Given the description of an element on the screen output the (x, y) to click on. 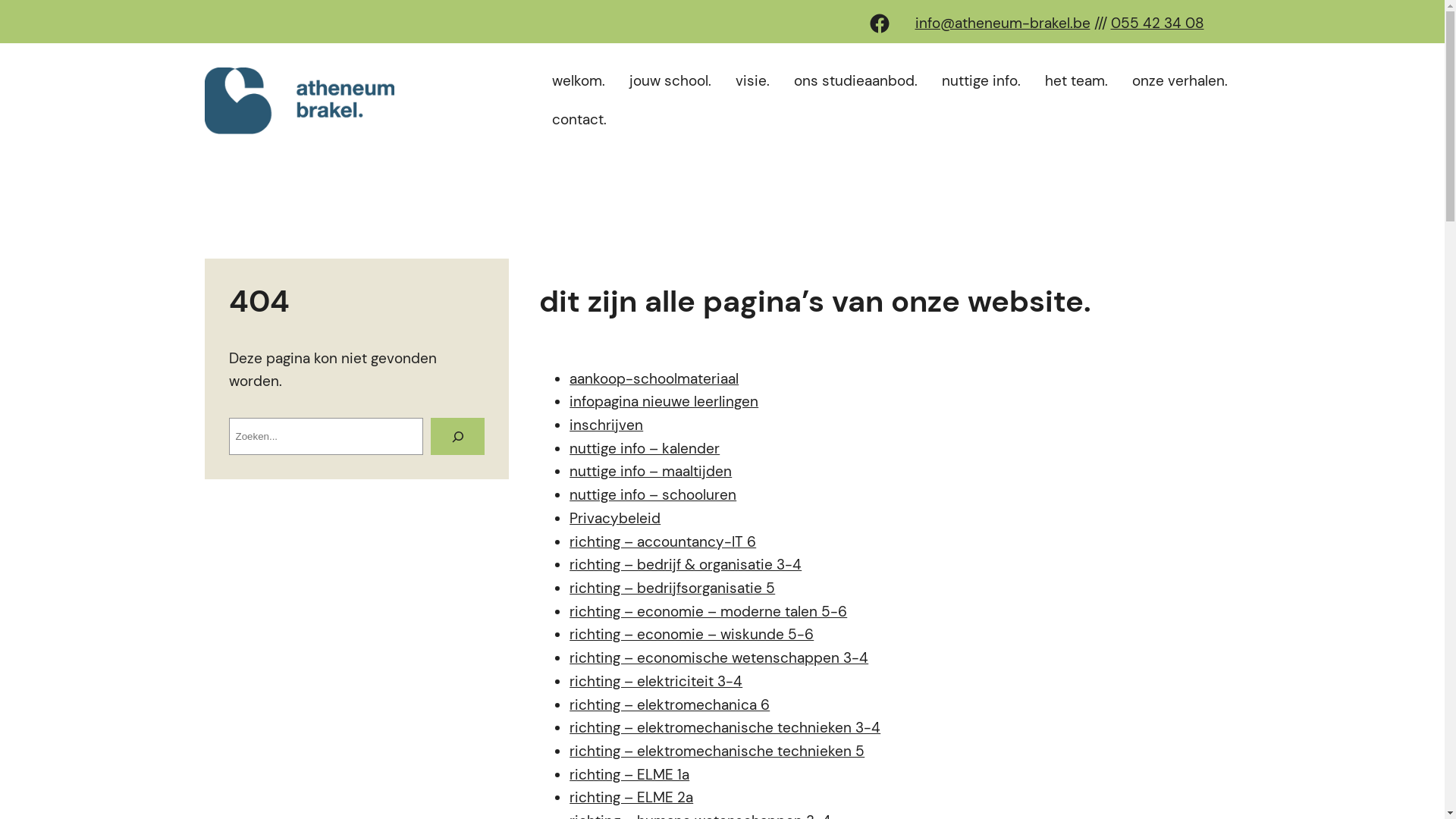
Facebook Element type: text (878, 23)
aankoop-schoolmateriaal Element type: text (653, 377)
055 42 34 08 Element type: text (1156, 22)
het team. Element type: text (1075, 81)
info@atheneum-brakel.be Element type: text (1001, 22)
jouw school. Element type: text (670, 81)
infopagina nieuwe leerlingen Element type: text (663, 401)
Privacybeleid Element type: text (614, 517)
contact. Element type: text (579, 119)
inschrijven Element type: text (606, 424)
onze verhalen. Element type: text (1179, 81)
visie. Element type: text (752, 81)
welkom. Element type: text (578, 81)
nuttige info. Element type: text (980, 81)
ons studieaanbod. Element type: text (855, 81)
